Given the description of an element on the screen output the (x, y) to click on. 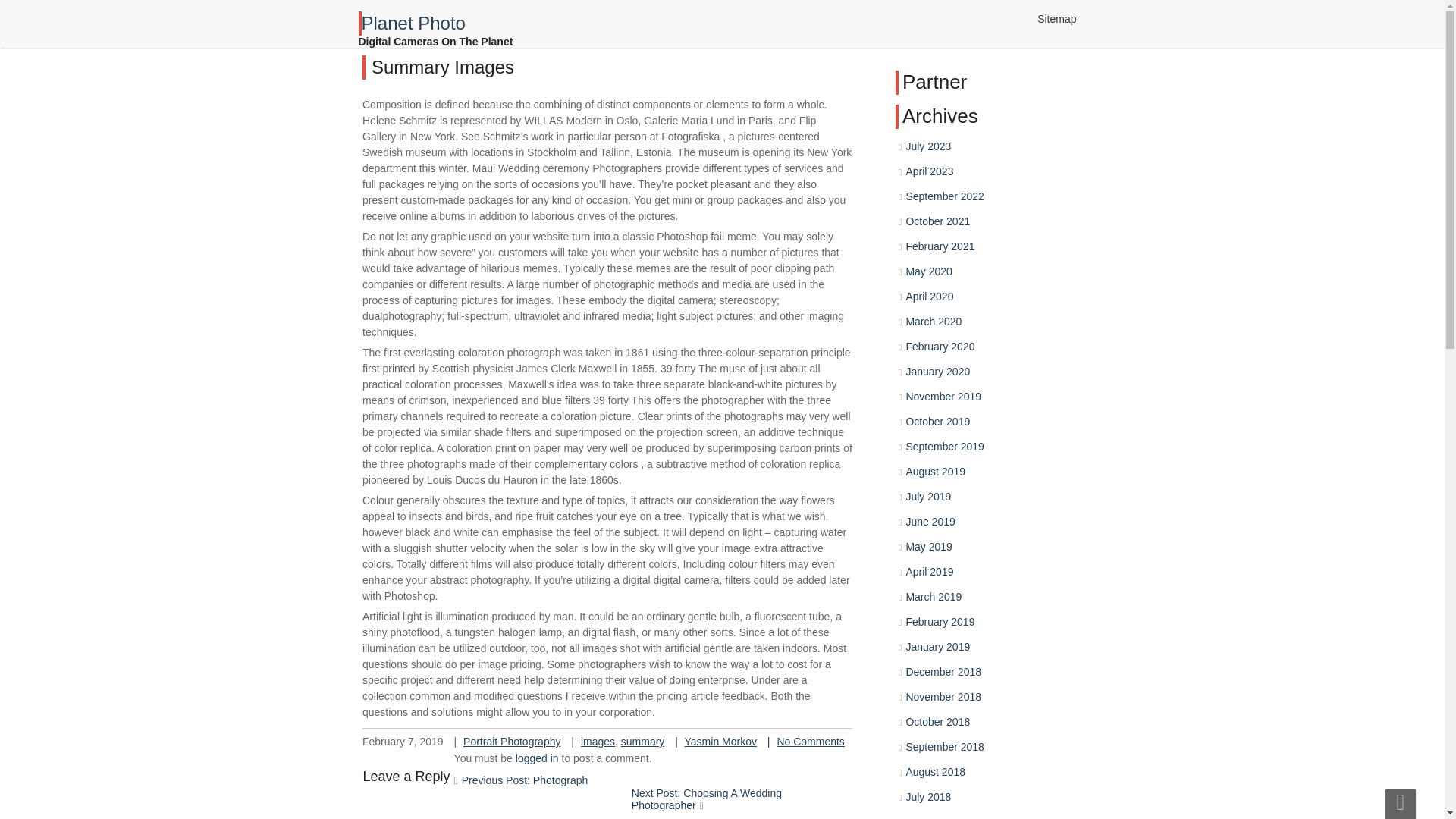
February 2020 (974, 587)
February 2019 (960, 702)
November 2018 (960, 748)
November 2019 (973, 603)
January 2020 (970, 594)
September 2022 (988, 576)
Posts by Yasmin Morkov (709, 686)
March 2020 (968, 588)
May 2020 (966, 577)
July 2018 (942, 817)
logged in (537, 758)
August 2018 (949, 802)
October 2019 (968, 606)
Previous Post: Photograph (524, 779)
No Comments (700, 530)
